Given the description of an element on the screen output the (x, y) to click on. 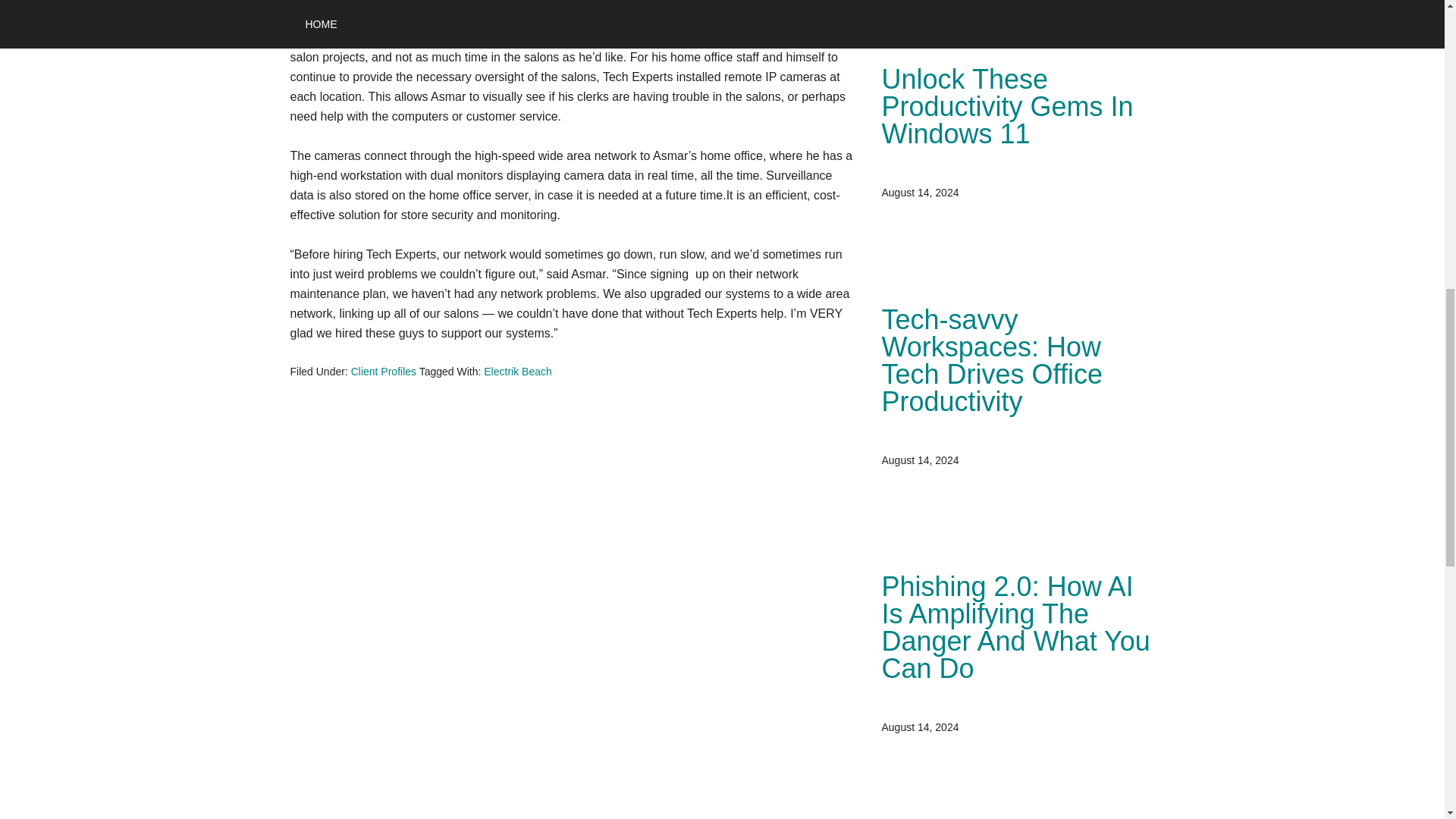
Unlock These Productivity Gems In Windows 11 (1006, 106)
Client Profiles (383, 371)
Electrik Beach (517, 371)
Tech-savvy Workspaces: How Tech Drives Office Productivity (991, 359)
